Given the description of an element on the screen output the (x, y) to click on. 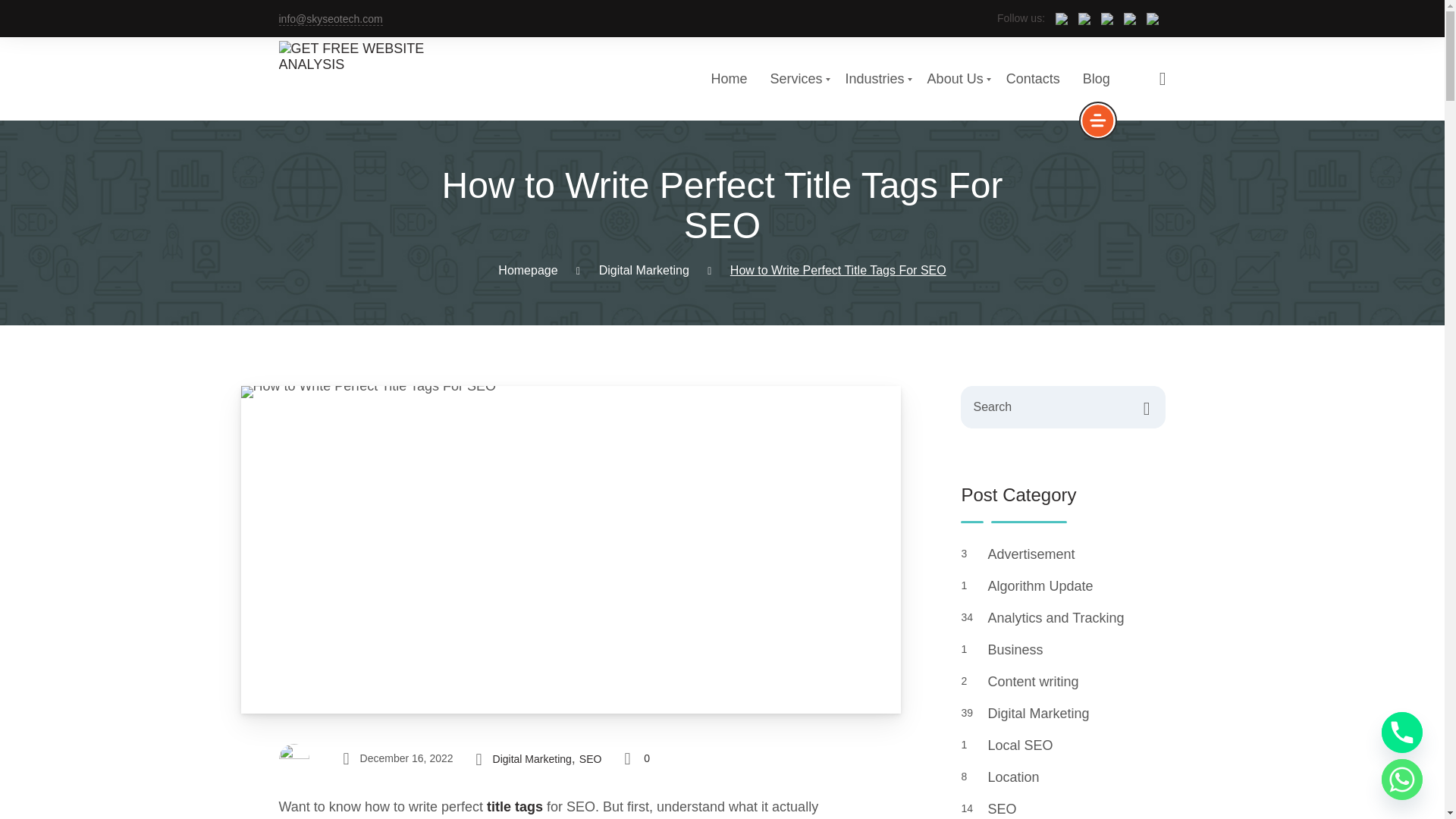
About Us (722, 78)
Blog (955, 78)
Homepage (1096, 78)
Digital Marketing (527, 269)
Industries (643, 269)
Home (874, 78)
Contacts (729, 78)
Services (1032, 78)
